Given the description of an element on the screen output the (x, y) to click on. 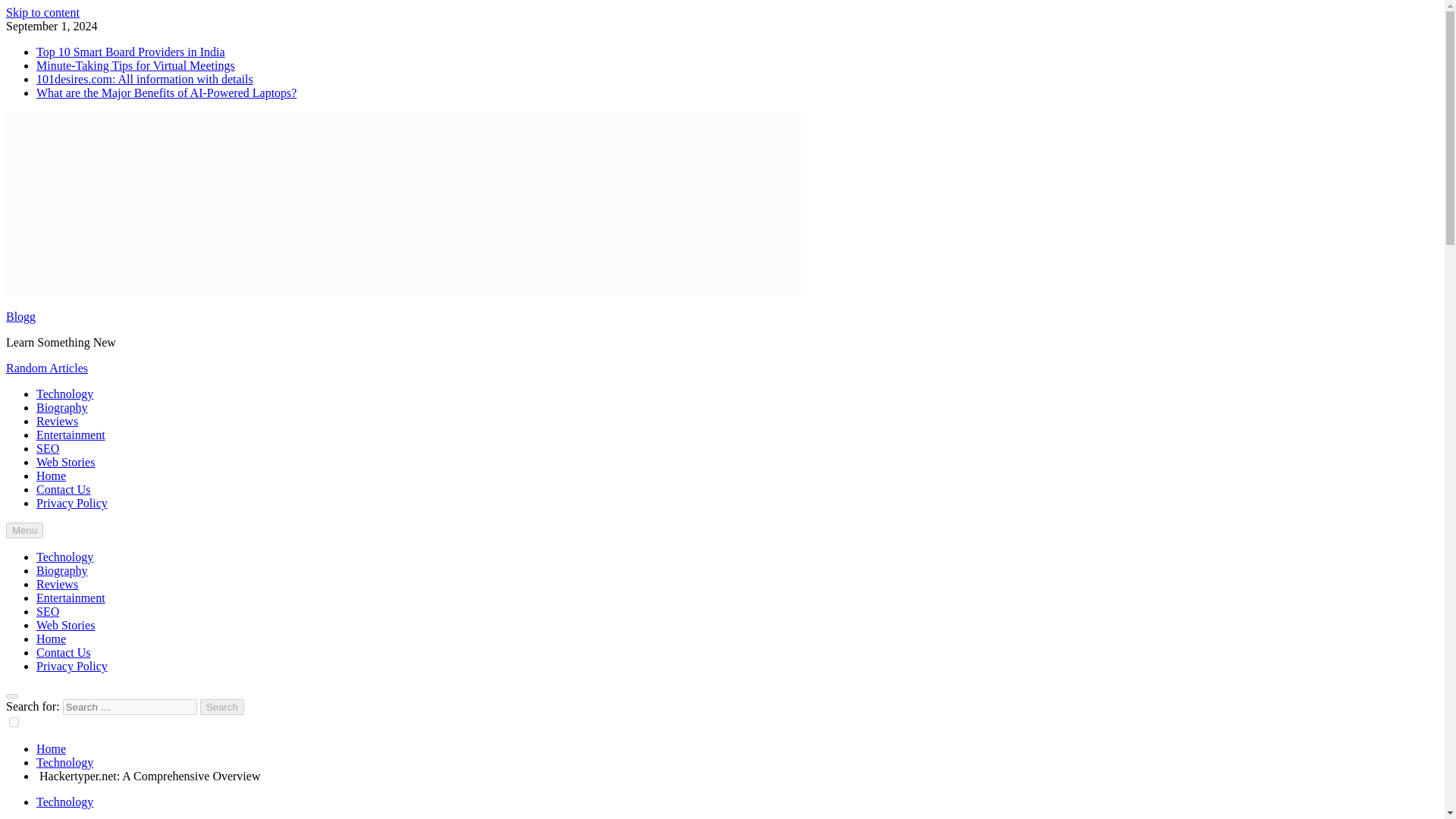
Technology (64, 762)
Top 10 Smart Board Providers in India (130, 51)
Reviews (57, 584)
Privacy Policy (71, 666)
What are the Major Benefits of AI-Powered Laptops? (166, 92)
Search (222, 706)
Privacy Policy (71, 502)
Biography (61, 407)
Reviews (57, 420)
What are the Major Benefits of AI-Powered Laptops? (166, 92)
